Given the description of an element on the screen output the (x, y) to click on. 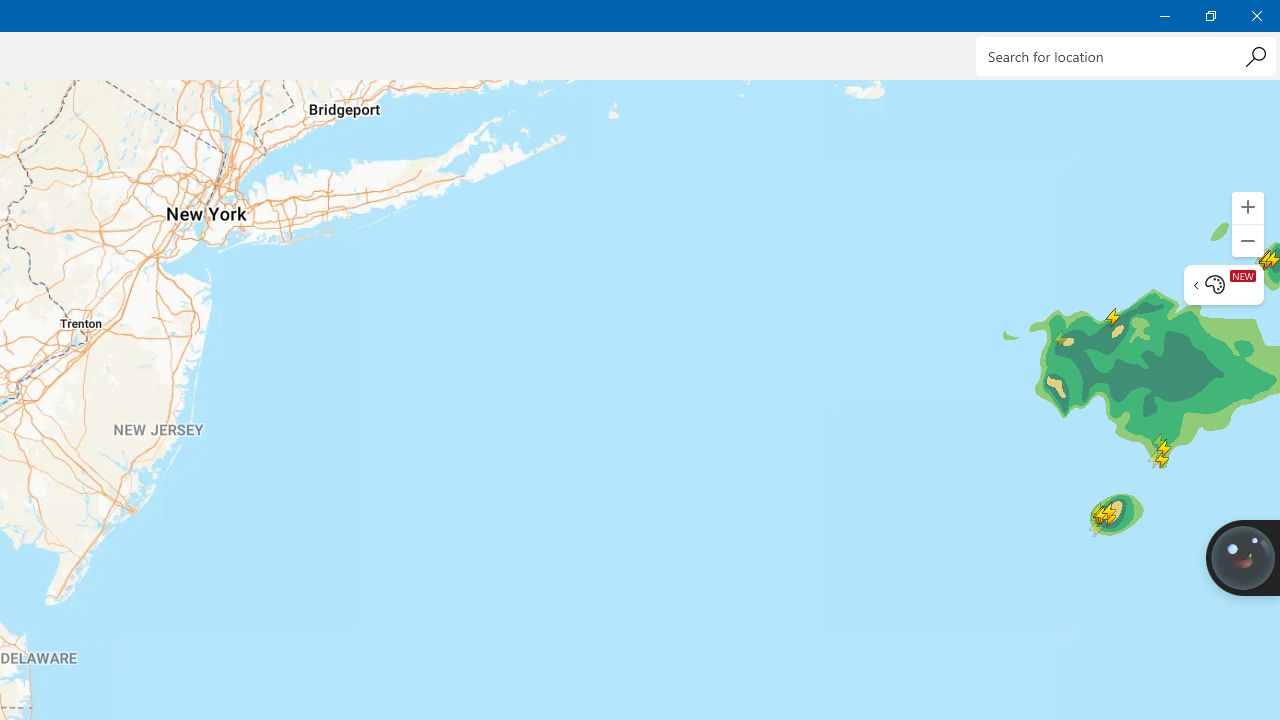
Search (1255, 56)
Minimize Weather (1164, 15)
Restore Weather (1210, 15)
Close Weather (1256, 15)
Search for location (1125, 56)
